Given the description of an element on the screen output the (x, y) to click on. 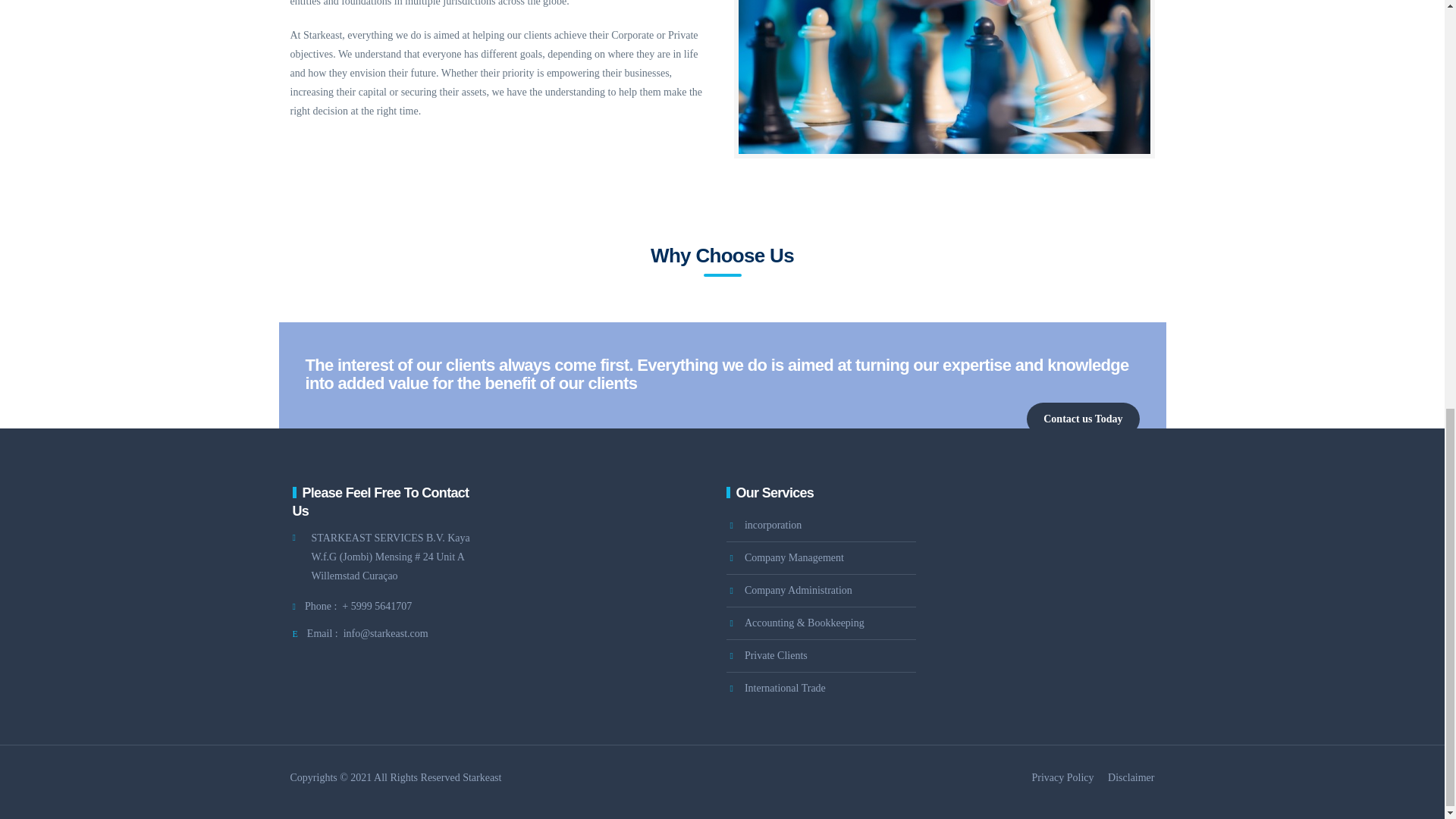
incorporation (764, 525)
Company Administration (788, 590)
International Trade (775, 688)
Disclaimer (1131, 777)
Company Management (785, 558)
Contact us Today (1082, 418)
Private Clients (767, 655)
Privacy Policy (1063, 777)
